Given the description of an element on the screen output the (x, y) to click on. 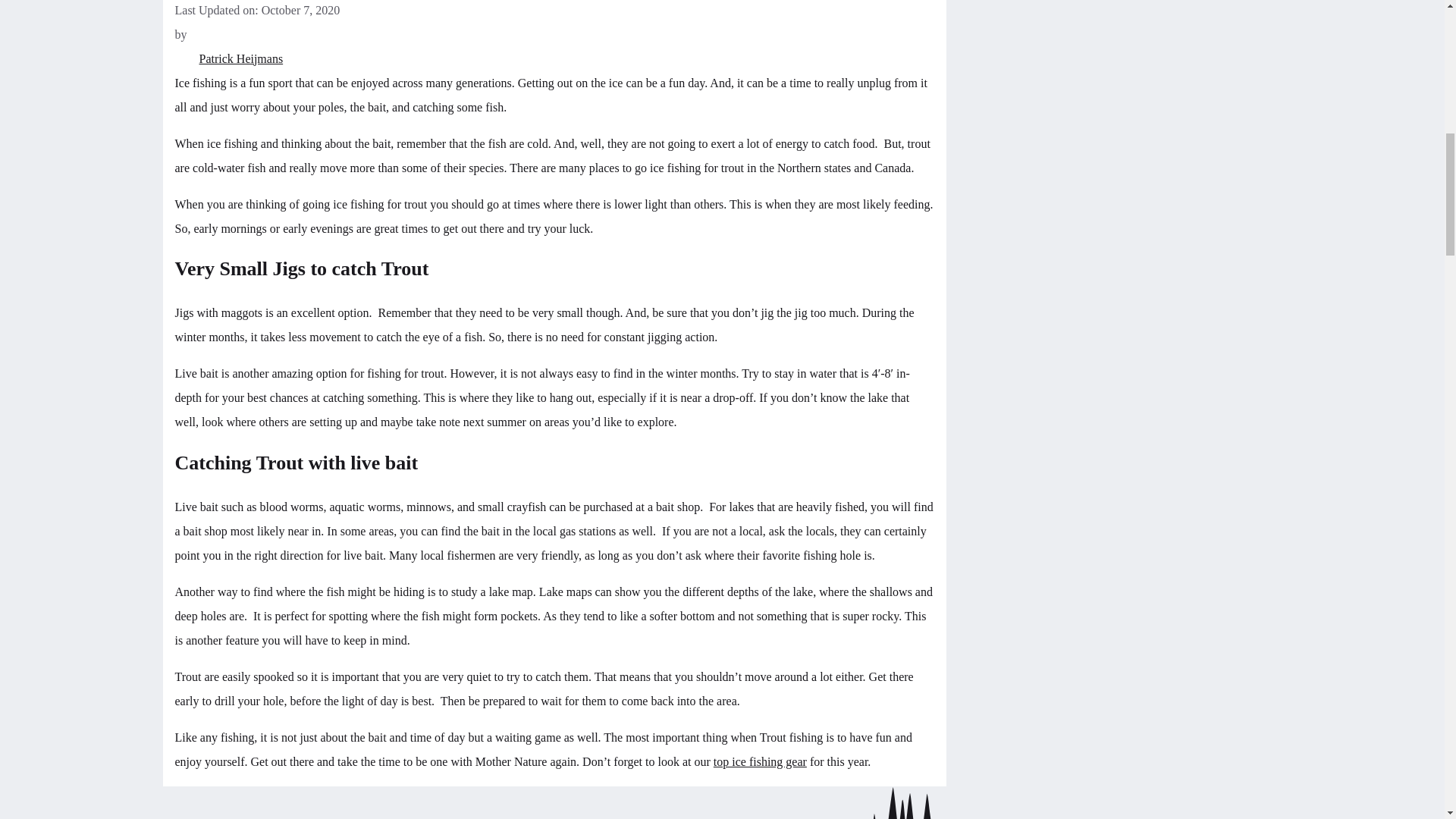
top ice fishing gear (759, 761)
View all posts by Patrick Heijmans (553, 58)
Scroll back to top (1406, 720)
Patrick Heijmans (553, 58)
